Given the description of an element on the screen output the (x, y) to click on. 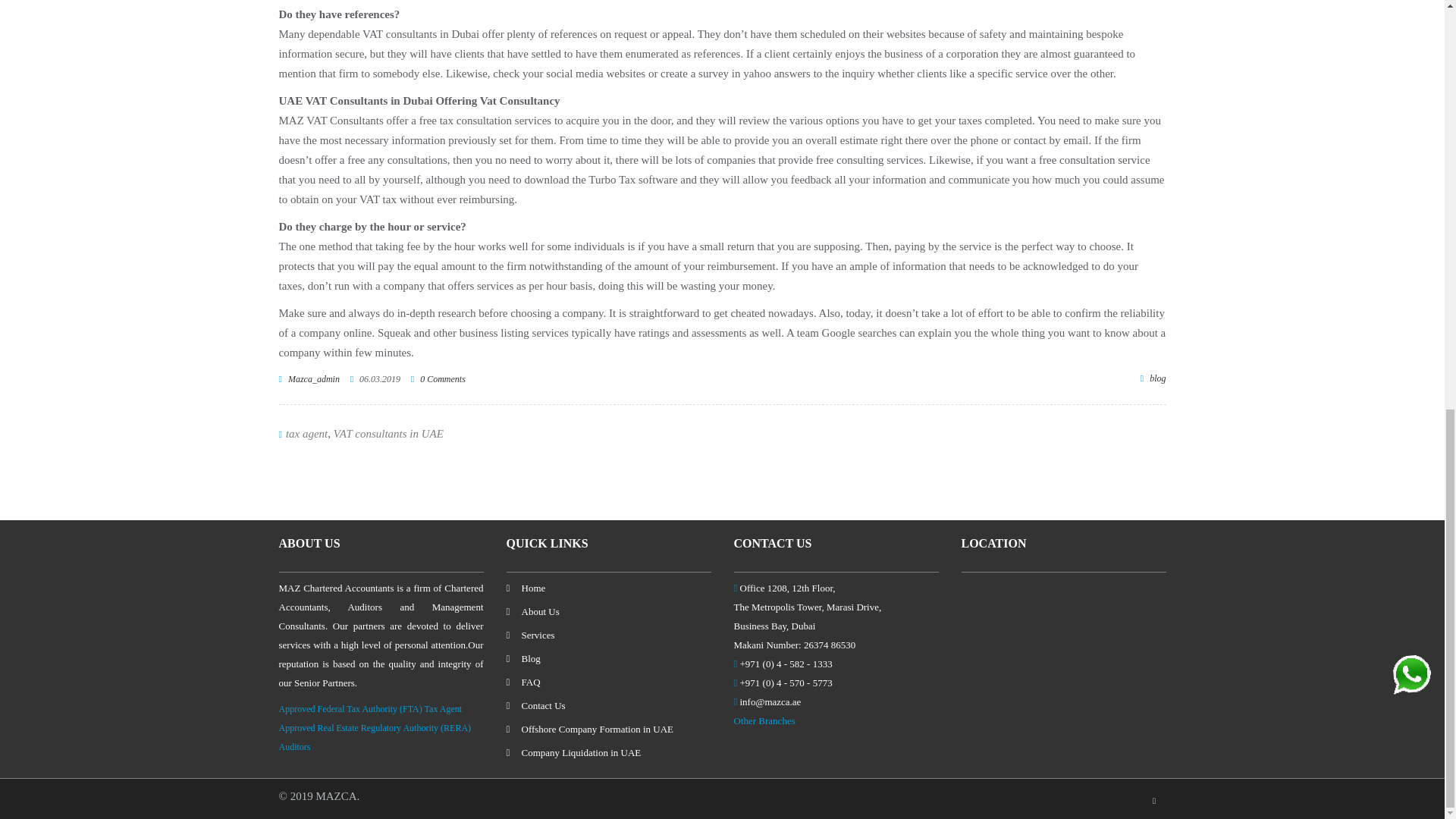
FAQ (523, 681)
Blog (523, 658)
Services (530, 634)
VAT consultants in UAE (388, 433)
Offshore Company Formation in UAE (590, 728)
blog (1158, 378)
Contact Us (536, 705)
About Us (532, 611)
tax agent (306, 433)
Home (526, 587)
